Given the description of an element on the screen output the (x, y) to click on. 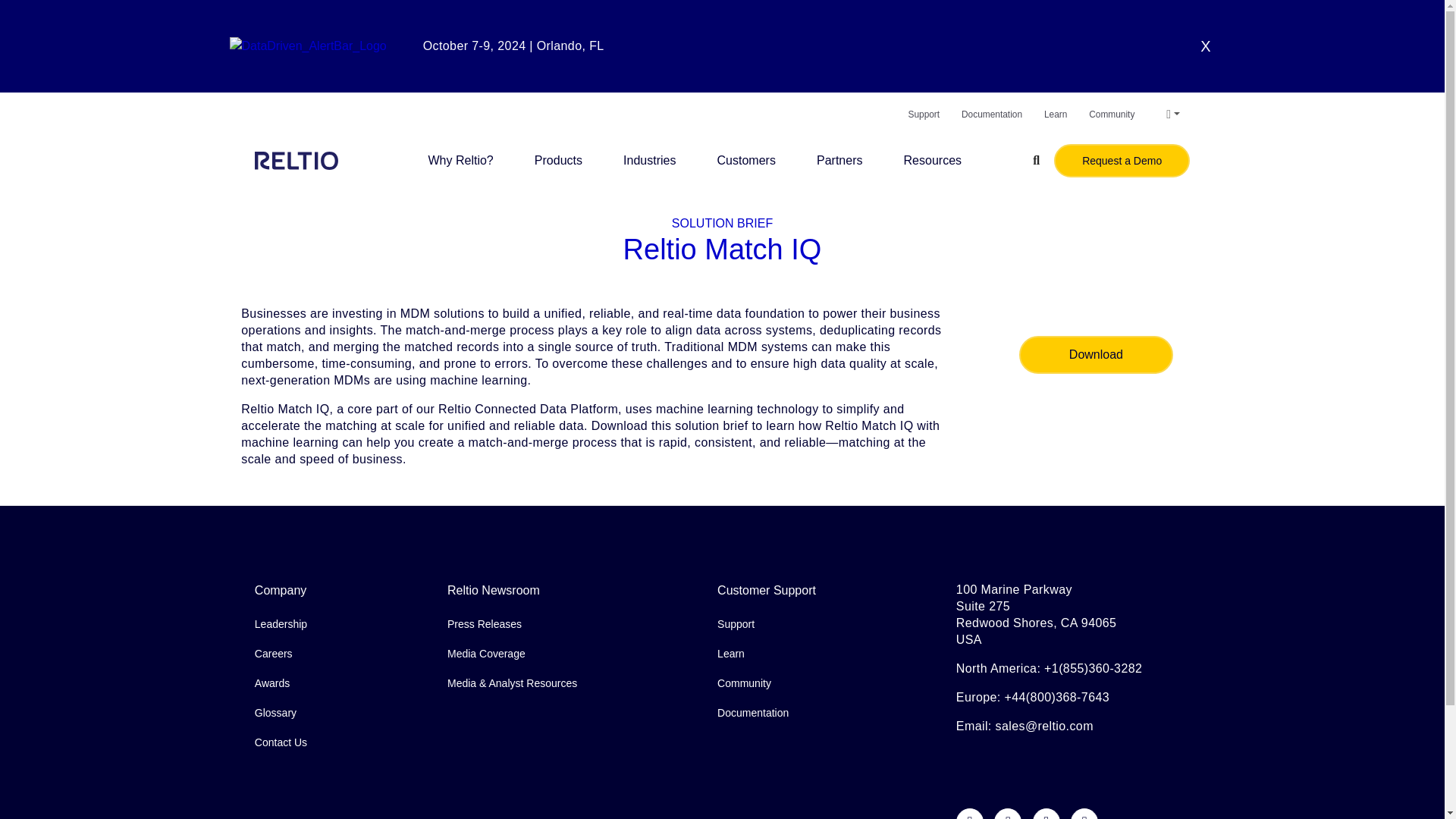
Community (1111, 113)
Products (558, 160)
Why Reltio? (460, 160)
Documentation (991, 113)
Learn (1055, 113)
Industries (649, 160)
Choose a language (1172, 113)
Support (923, 113)
